Given the description of an element on the screen output the (x, y) to click on. 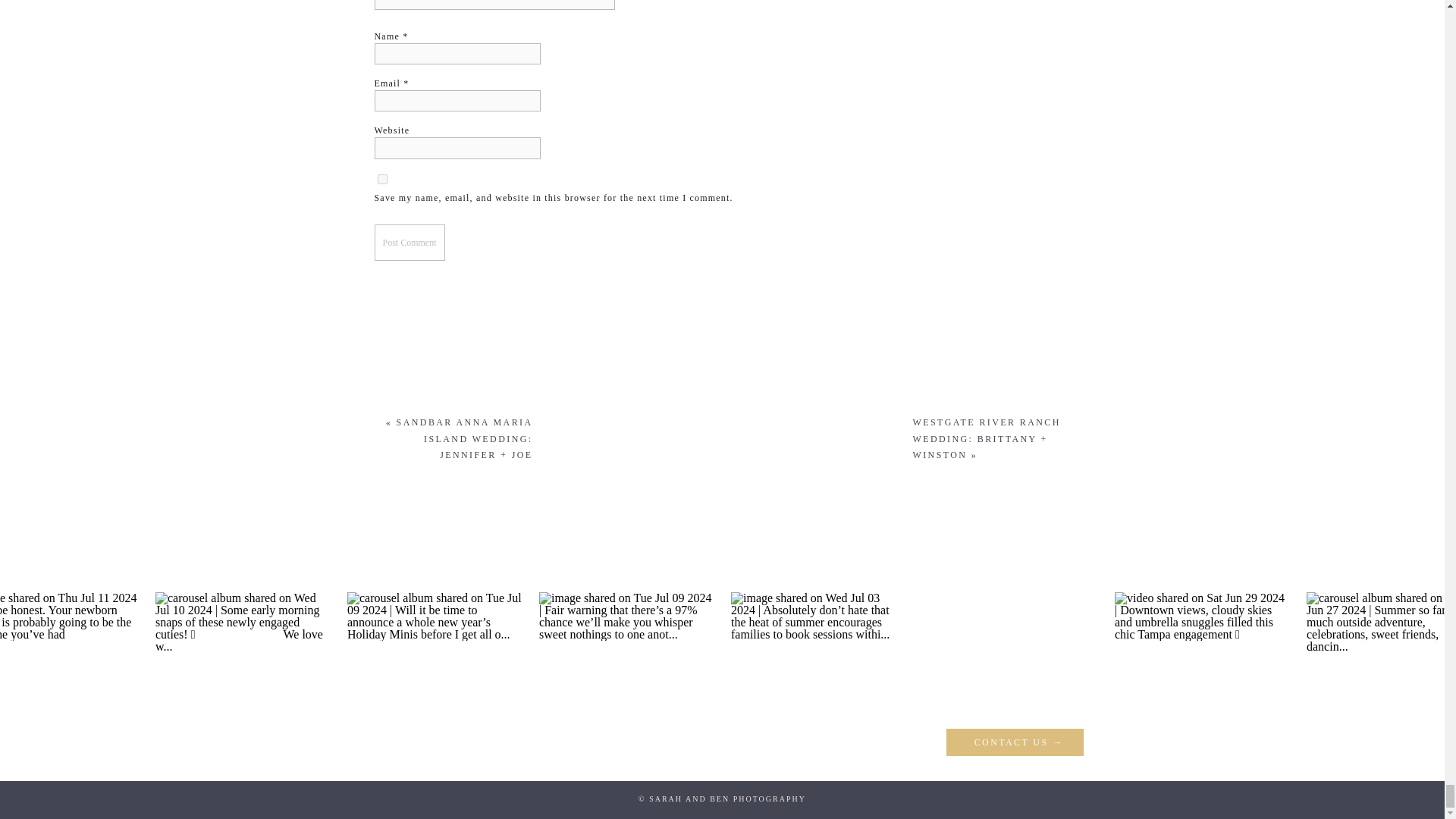
Post Comment (409, 242)
yes (382, 179)
